Given the description of an element on the screen output the (x, y) to click on. 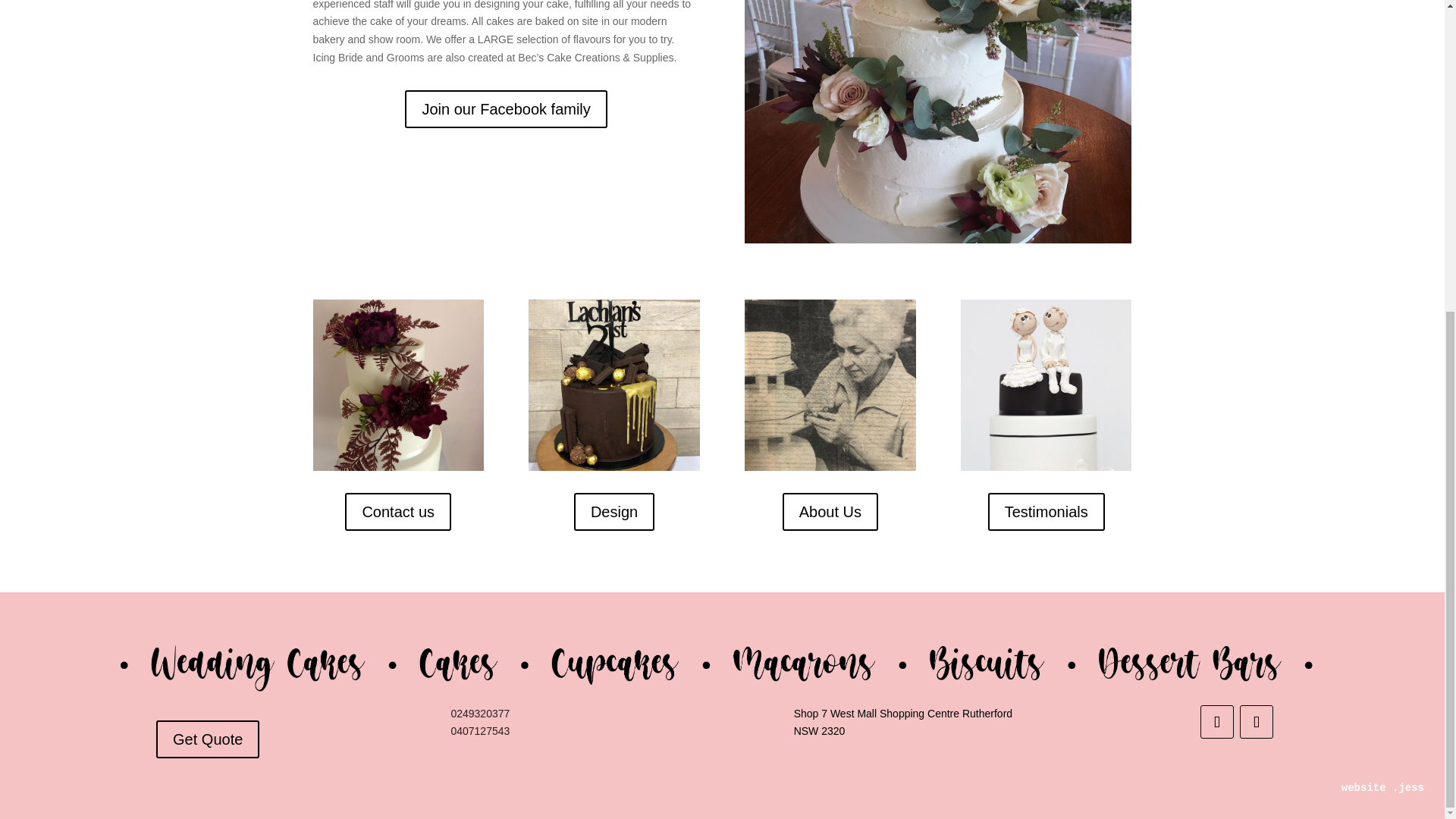
Follow on Facebook (1216, 721)
Contact us (398, 511)
About Us (830, 511)
Becs-cake-creations-5 Square (398, 384)
Becs-cake-creations-22 (937, 121)
Becs-Cake-Creations-Cake-Couples-Square (1045, 384)
Design (613, 511)
Becs-cake-creations-services (721, 664)
becs-cake-creations (613, 384)
Join our Facebook family (505, 108)
